Given the description of an element on the screen output the (x, y) to click on. 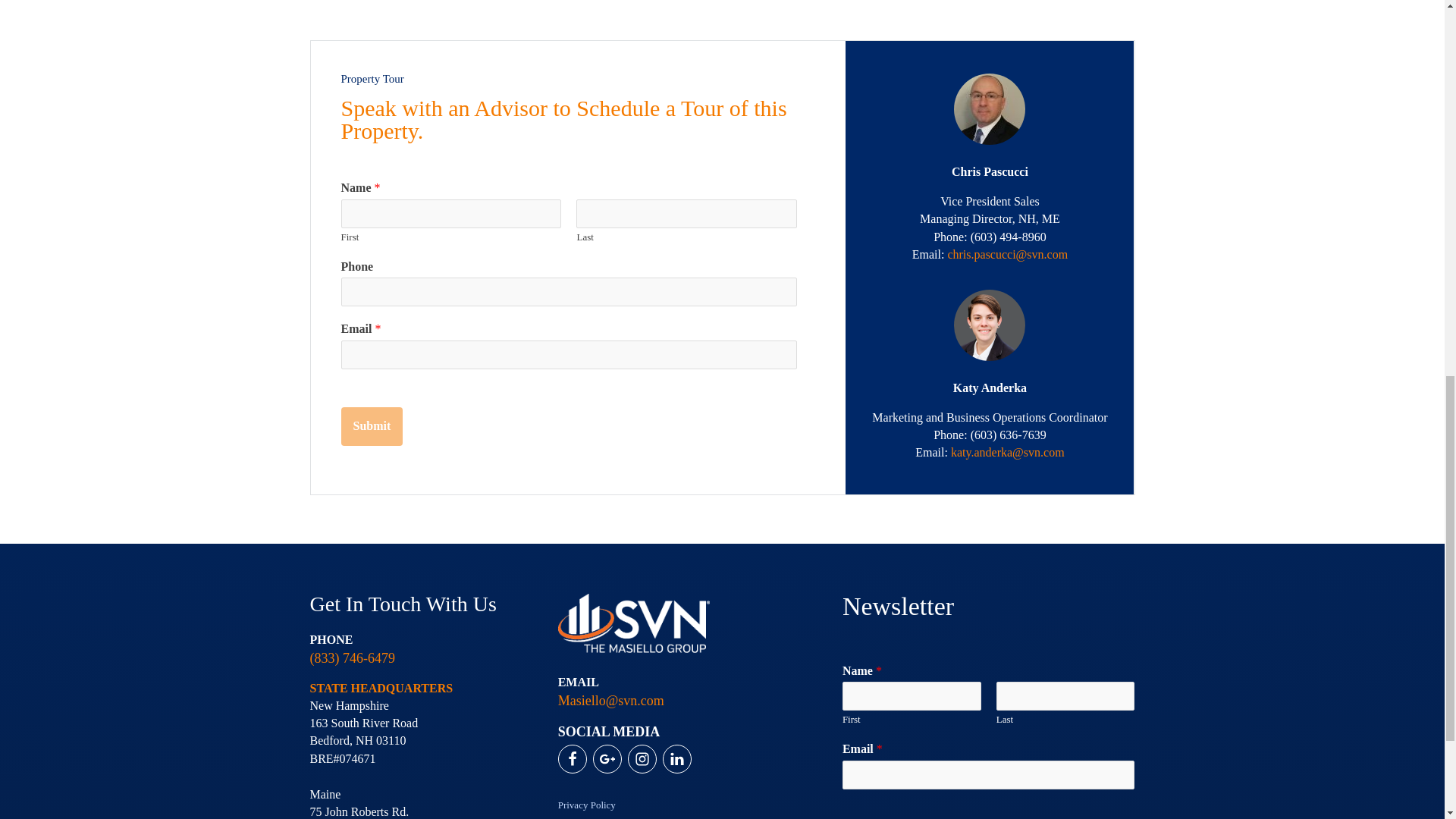
Submit (371, 426)
